Given the description of an element on the screen output the (x, y) to click on. 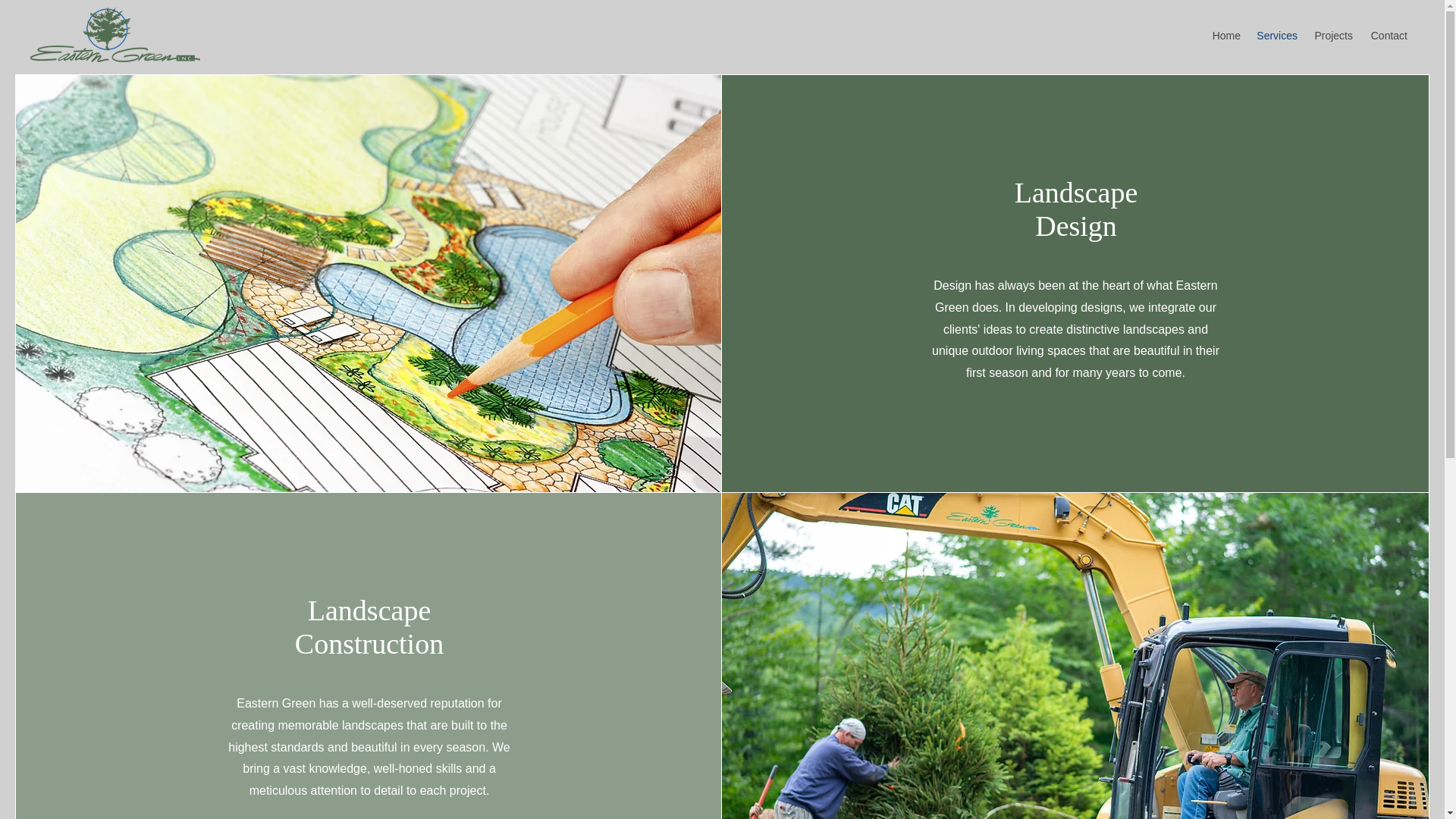
Home (1225, 35)
Services (1275, 35)
Contact (1387, 35)
Projects (1331, 35)
